Given the description of an element on the screen output the (x, y) to click on. 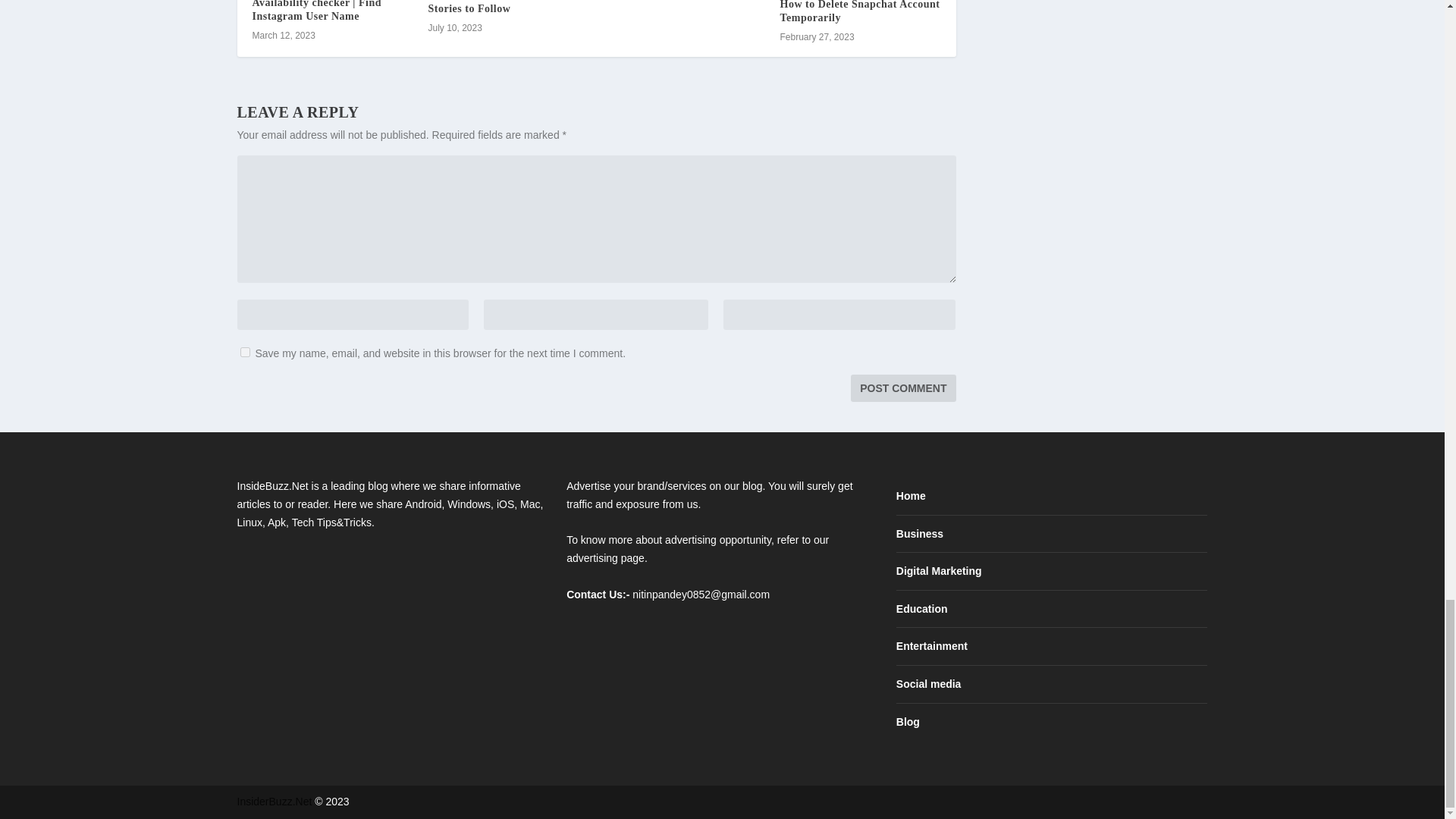
yes (244, 352)
Post Comment (902, 388)
